Given the description of an element on the screen output the (x, y) to click on. 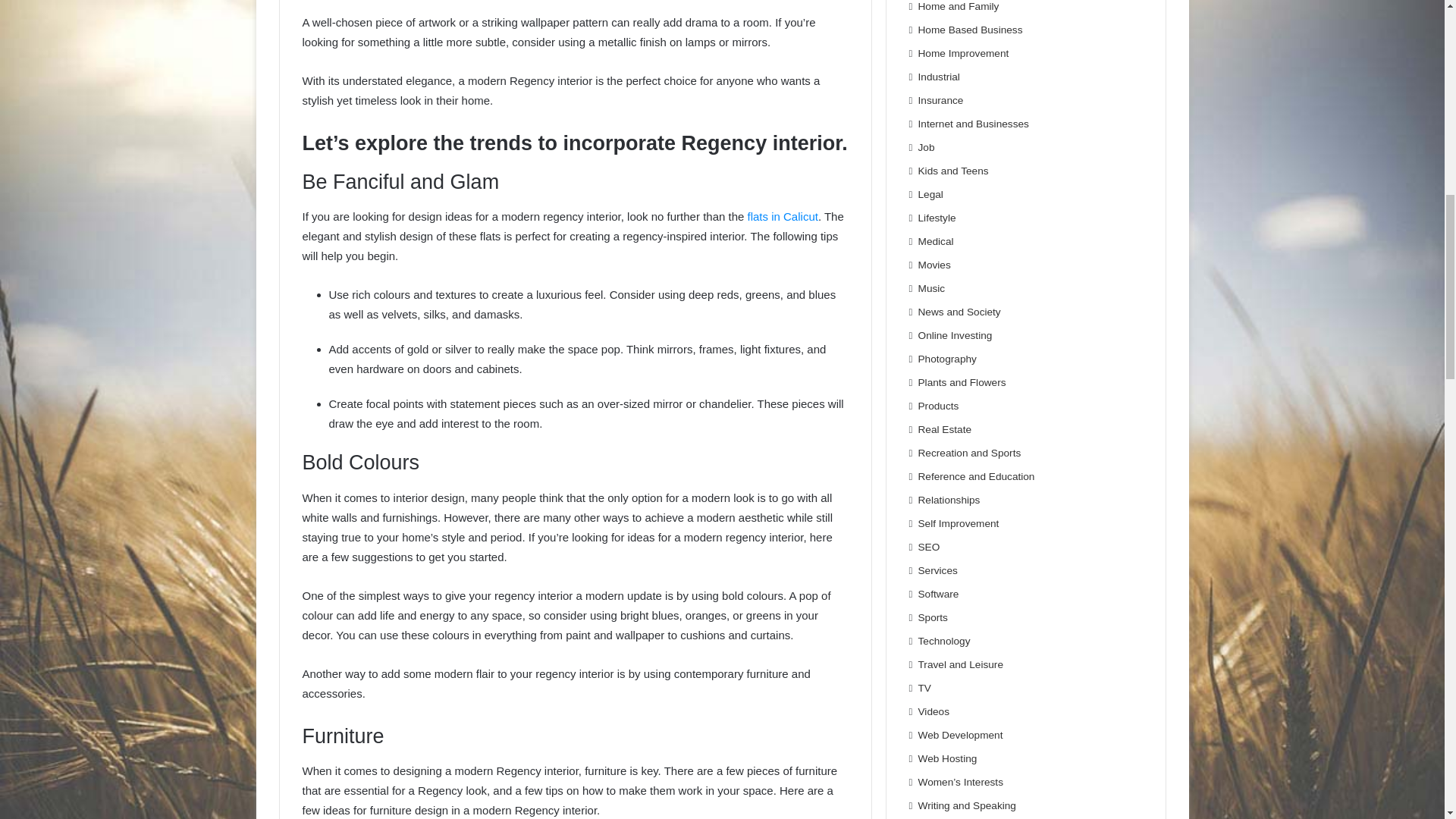
flats in Calicut (783, 215)
